Given the description of an element on the screen output the (x, y) to click on. 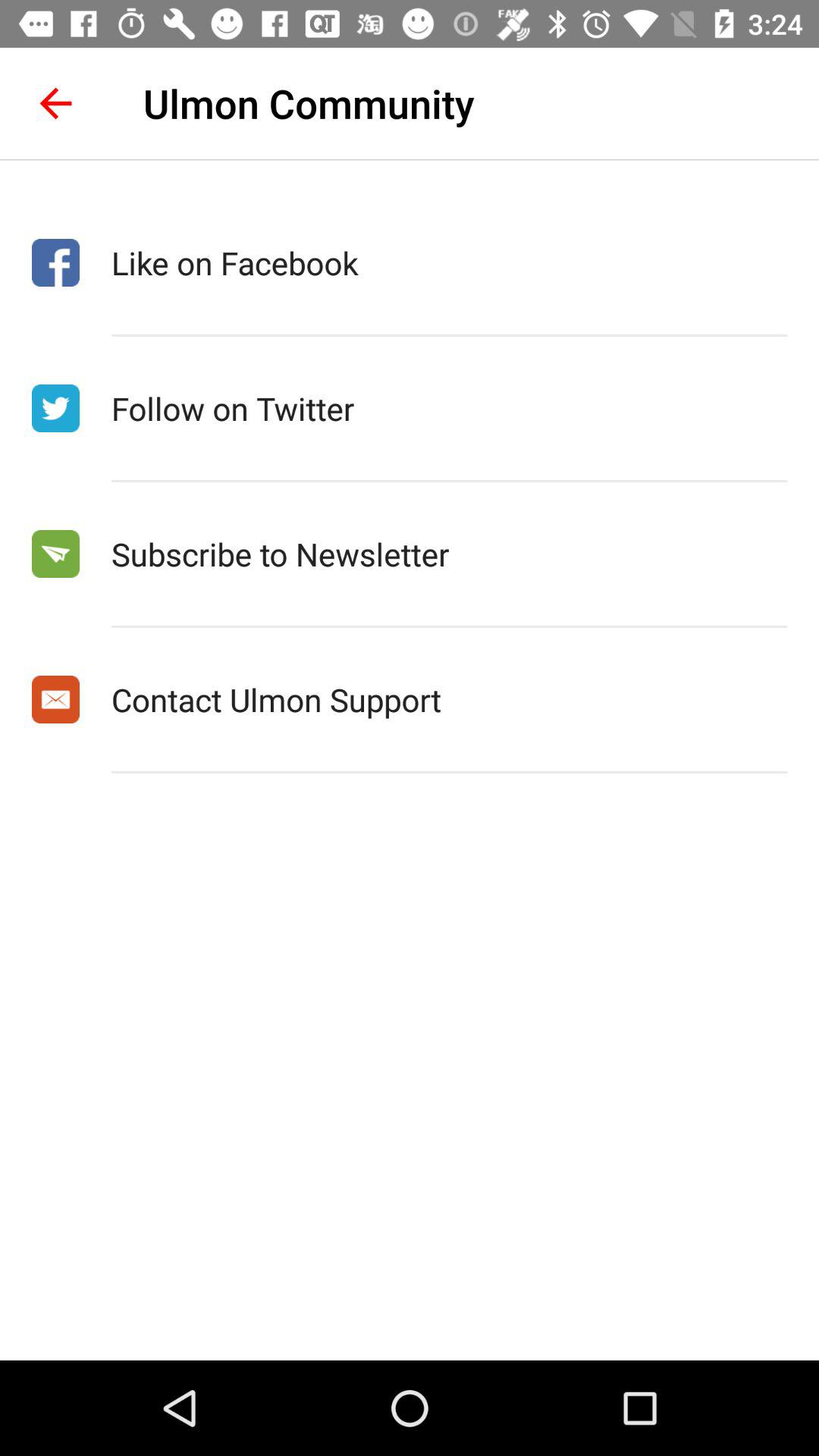
launch the icon next to ulmon community (55, 103)
